Given the description of an element on the screen output the (x, y) to click on. 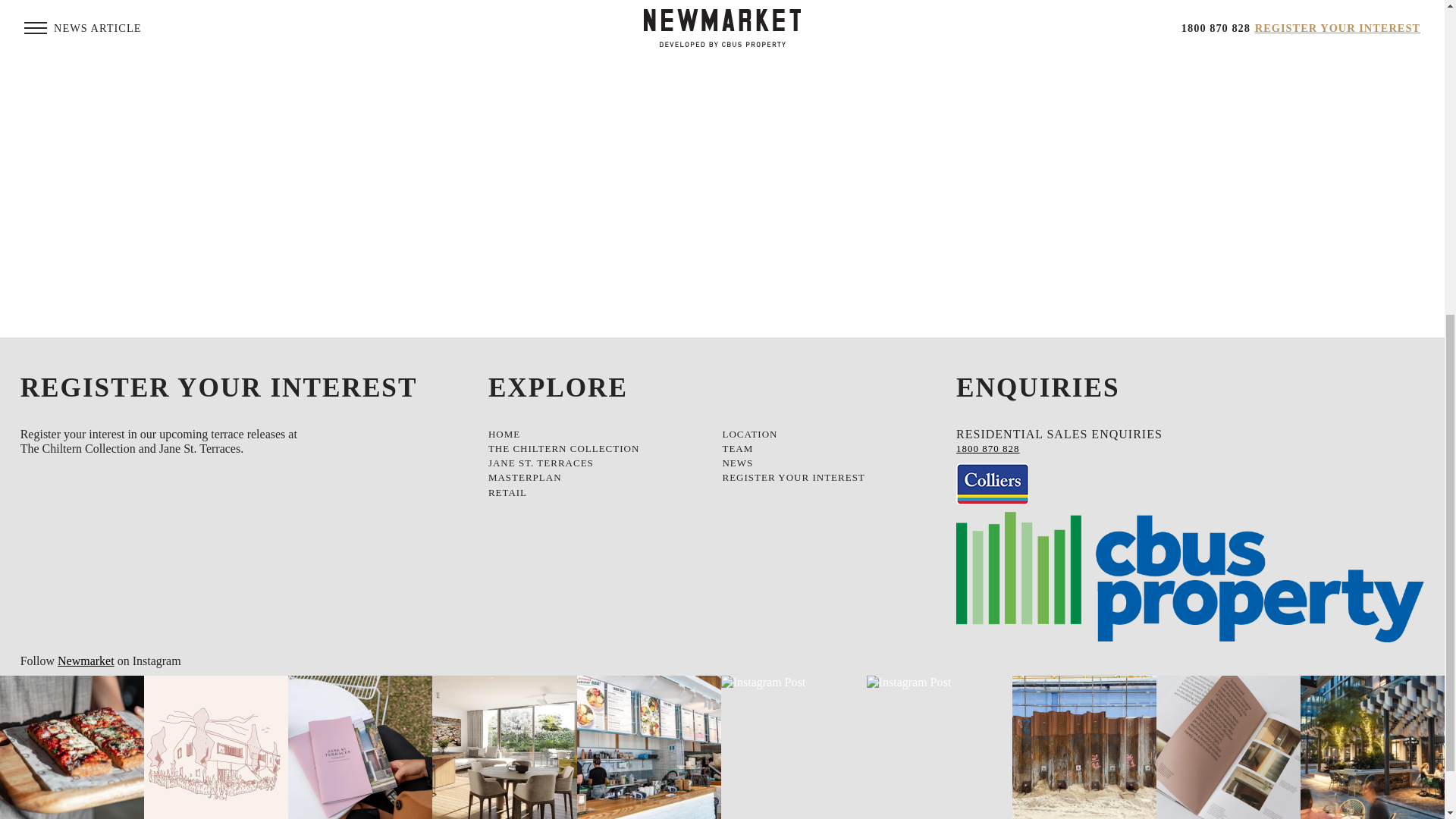
JANE ST. TERRACES (592, 462)
Back to all (721, 18)
MASTERPLAN (592, 477)
HOME (592, 433)
THE CHILTERN COLLECTION (592, 448)
